Given the description of an element on the screen output the (x, y) to click on. 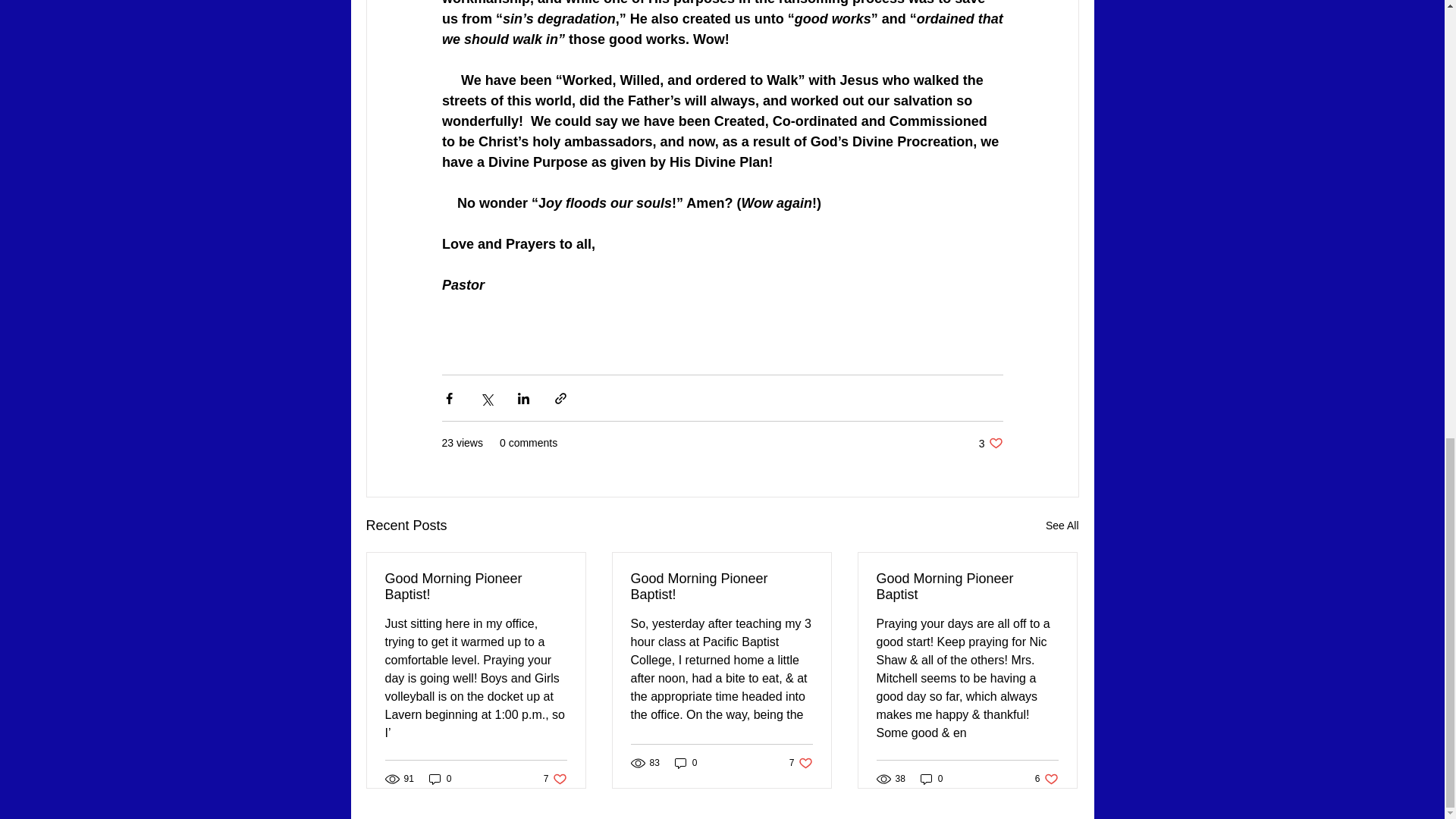
0 (800, 762)
Good Morning Pioneer Baptist (990, 442)
0 (440, 778)
0 (967, 586)
Good Morning Pioneer Baptist! (931, 778)
Good Morning Pioneer Baptist! (685, 762)
